Given the description of an element on the screen output the (x, y) to click on. 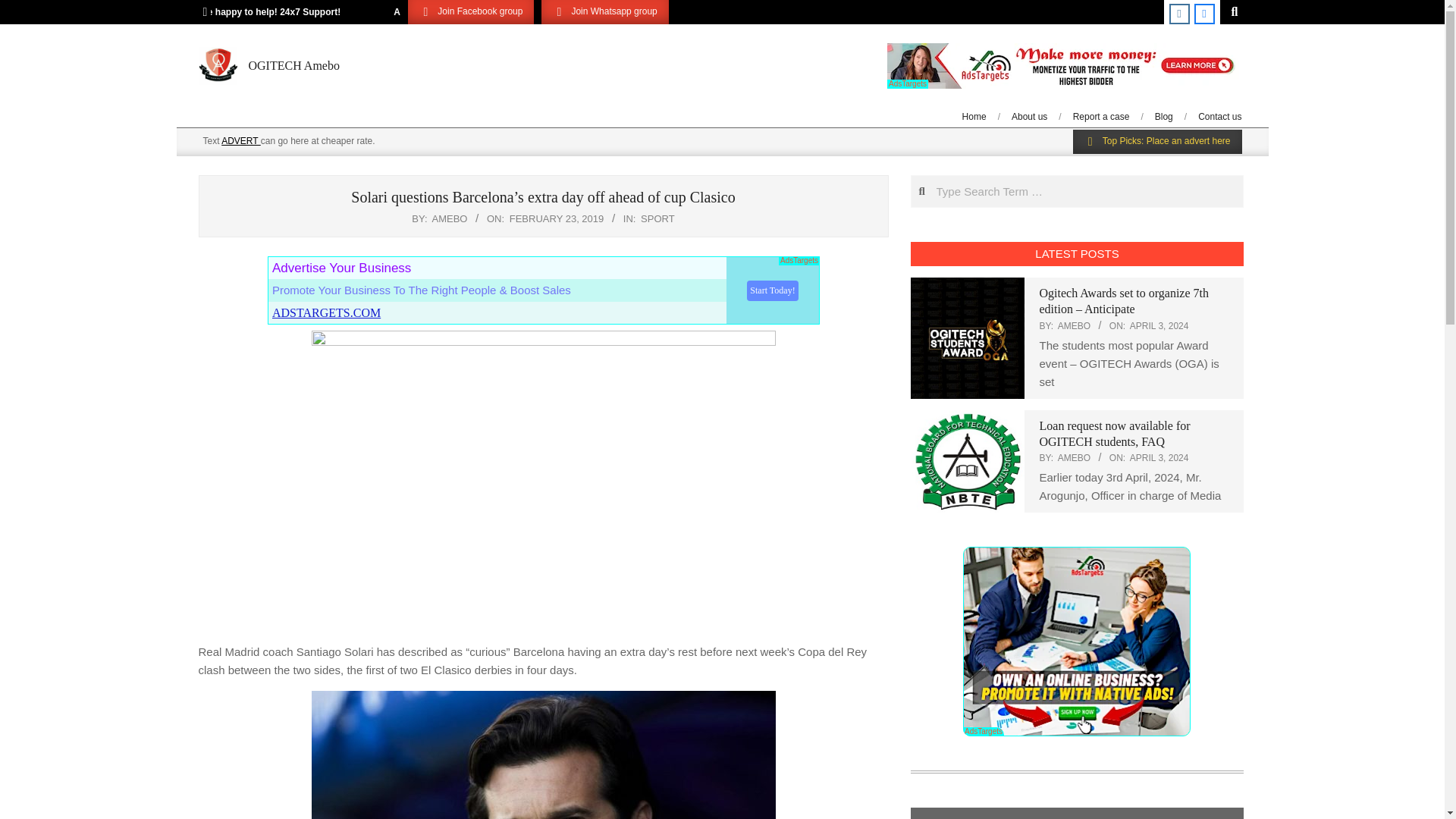
Posts by Amebo (1074, 326)
Blog (1163, 116)
About us (1028, 116)
Saturday, February 23, 2019, 2:41 pm (556, 218)
SPORT (657, 218)
ADVERT (240, 140)
Posts by Amebo (1074, 457)
Wednesday, April 3, 2024, 2:11 pm (1159, 457)
Home (974, 116)
Wednesday, April 3, 2024, 2:38 pm (1159, 326)
OGITECH Amebo (293, 65)
AMEBO (1074, 457)
Loan request now available for OGITECH students, FAQ (1114, 433)
Contact us (1219, 116)
Posts by Amebo (449, 218)
